Given the description of an element on the screen output the (x, y) to click on. 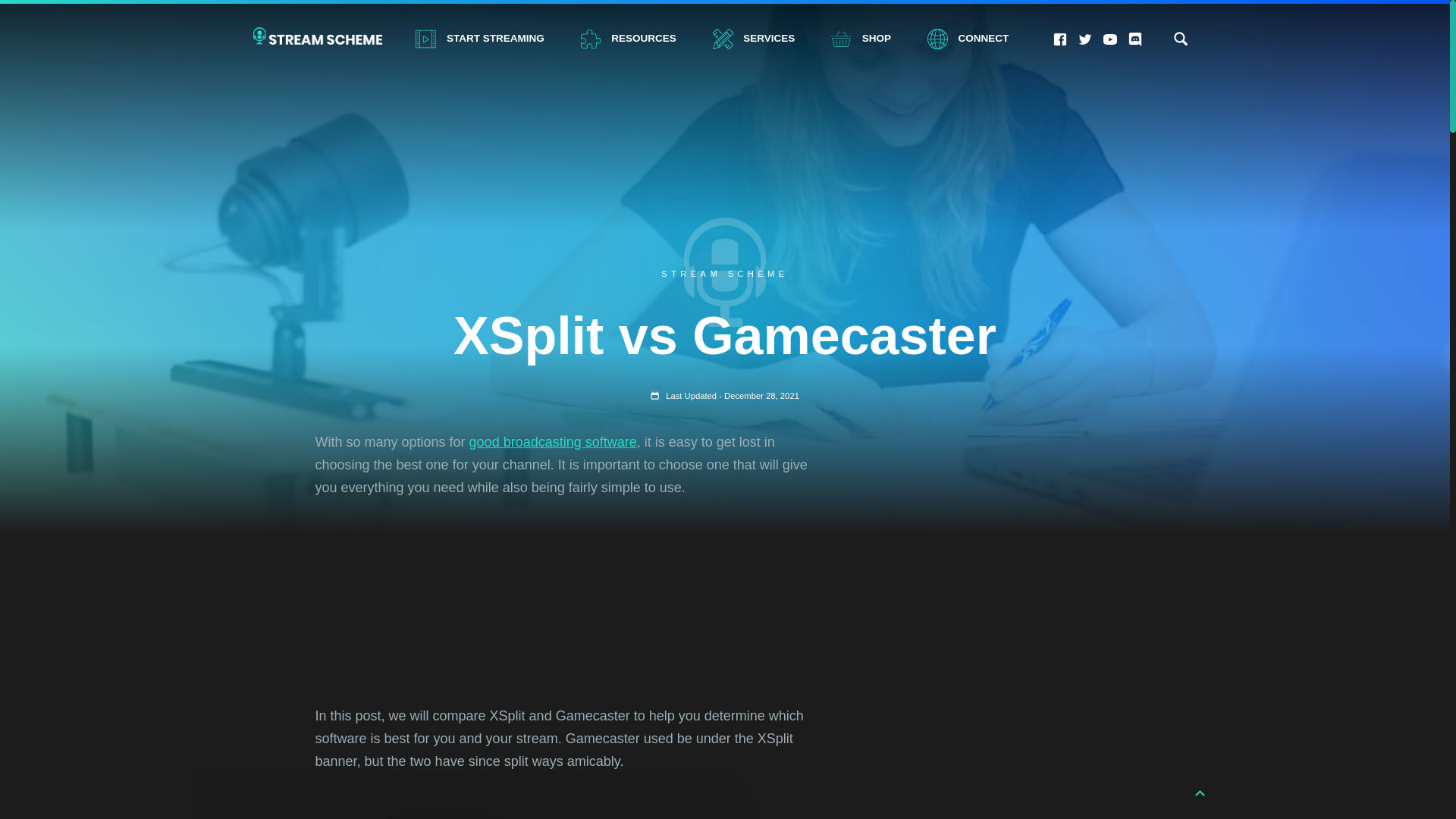
GLOBAL (937, 38)
TOOLS (723, 38)
FACEBOOK1 (1059, 38)
PUZZLE RESOURCES (1180, 38)
YOUTUBE (627, 39)
TWITTER1 (1109, 38)
good broadcasting software (1085, 38)
PUZZLE (552, 441)
VIDEO START STREAMING (590, 38)
VIDEO (479, 39)
magnifying-glass1 (424, 38)
BASKET SHOP (1180, 38)
calendar1 (861, 39)
GLOBAL CONNECT (654, 395)
